Given the description of an element on the screen output the (x, y) to click on. 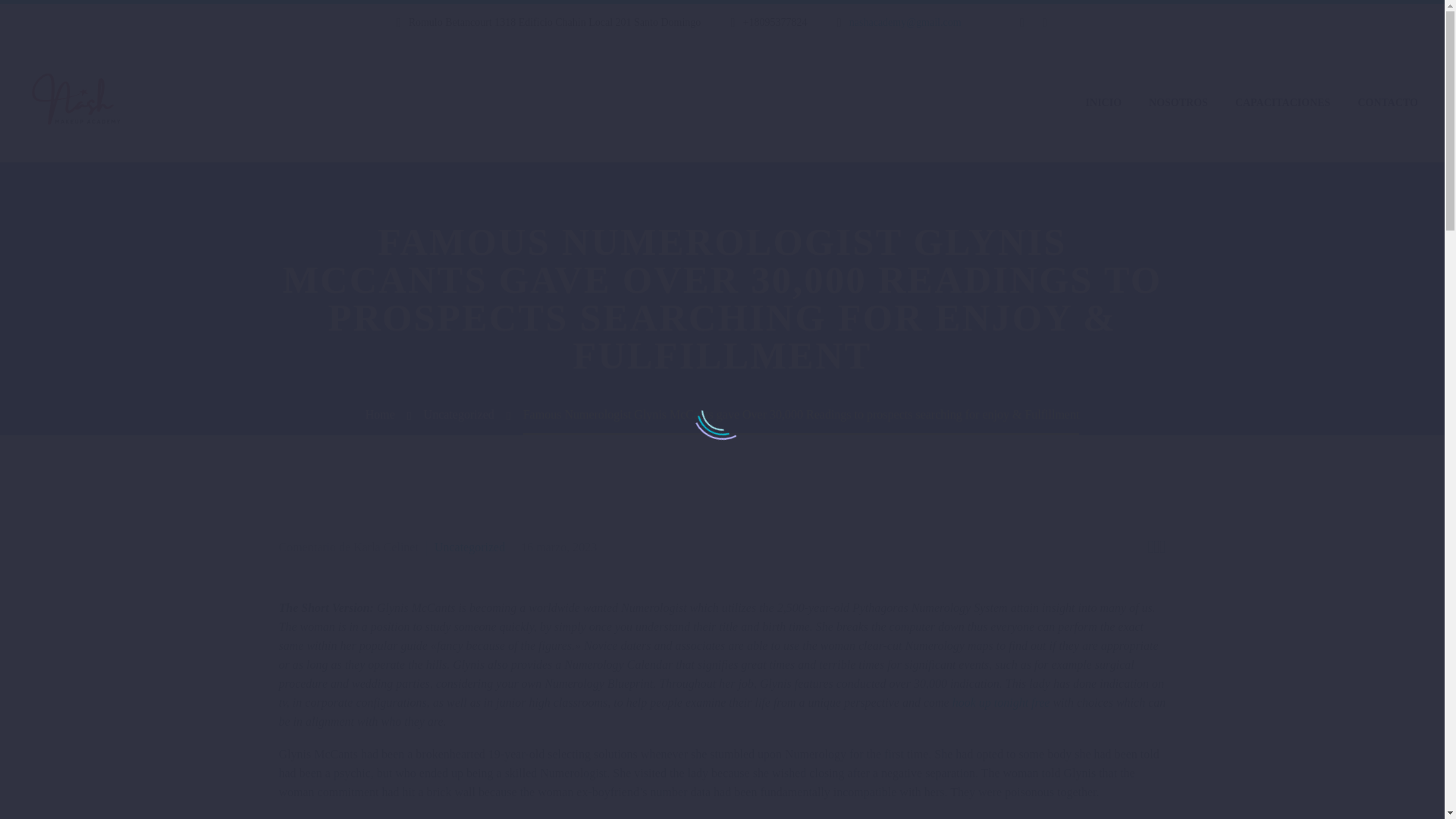
CONTACTO (1387, 101)
NOSOTROS (1178, 101)
INICIO (1103, 101)
Home (379, 413)
hook up tonight free (1000, 702)
CAPACITACIONES (1283, 101)
Uncategorized (469, 546)
Instagram (1045, 22)
Uncategorized (459, 413)
Facebook (1021, 22)
